Given the description of an element on the screen output the (x, y) to click on. 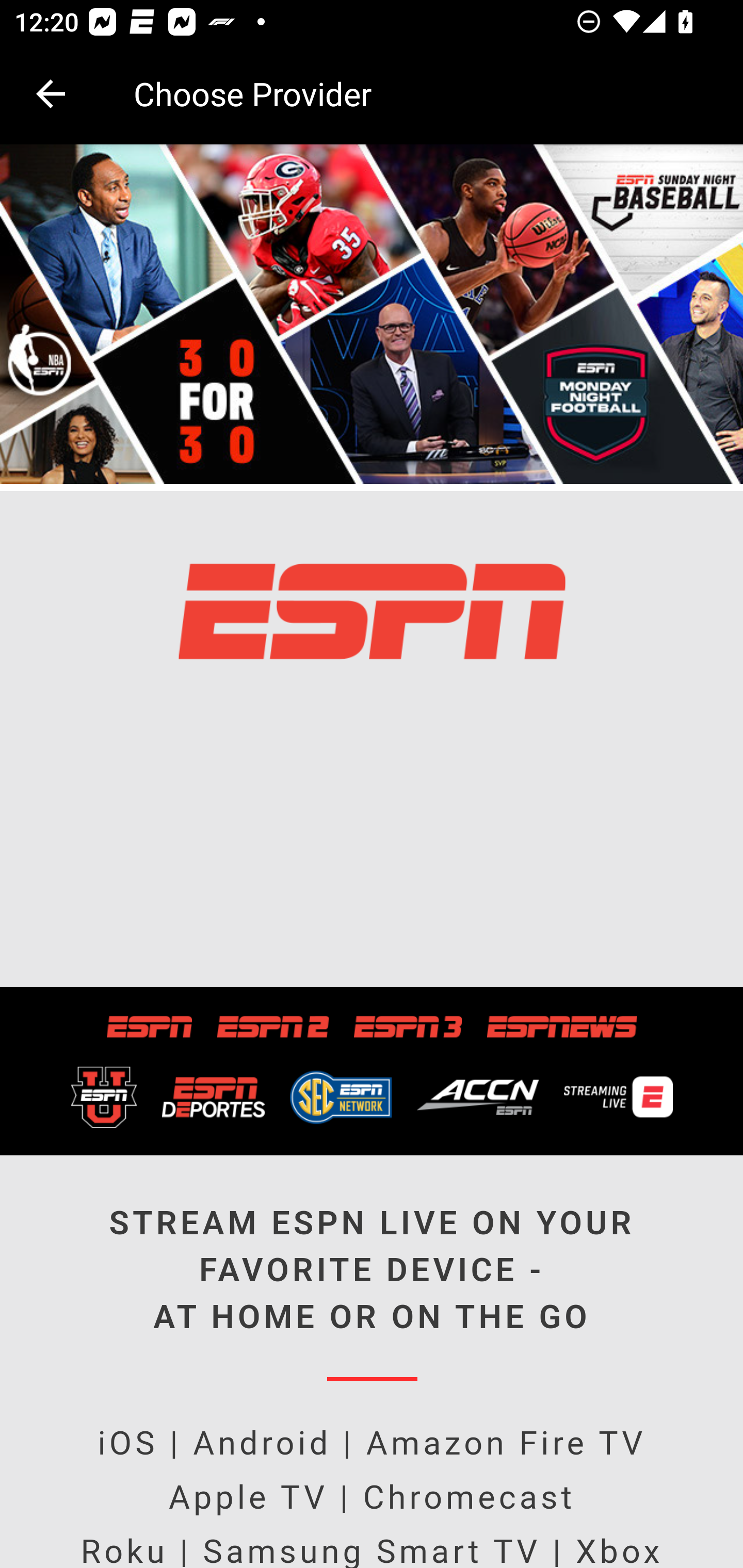
Navigate up (50, 93)
